Given the description of an element on the screen output the (x, y) to click on. 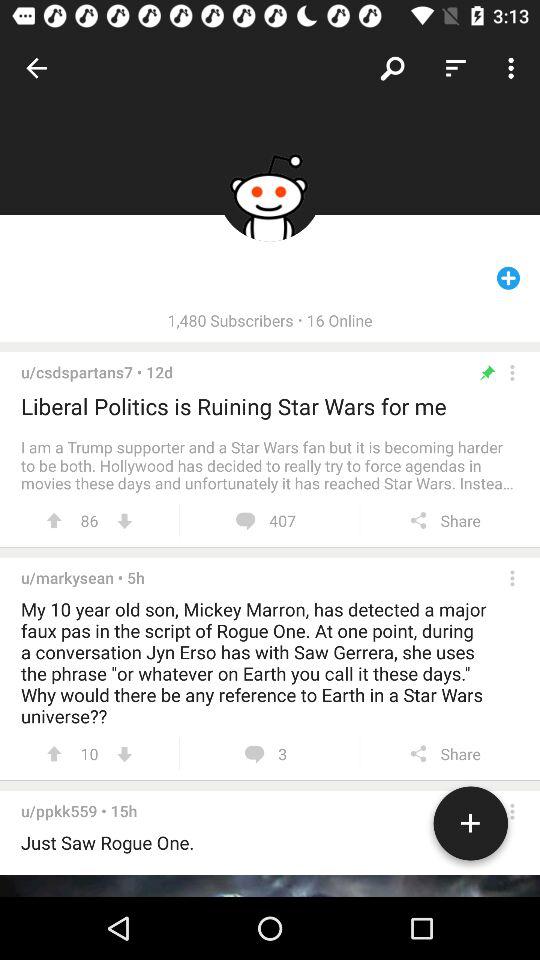
downvote (124, 753)
